Given the description of an element on the screen output the (x, y) to click on. 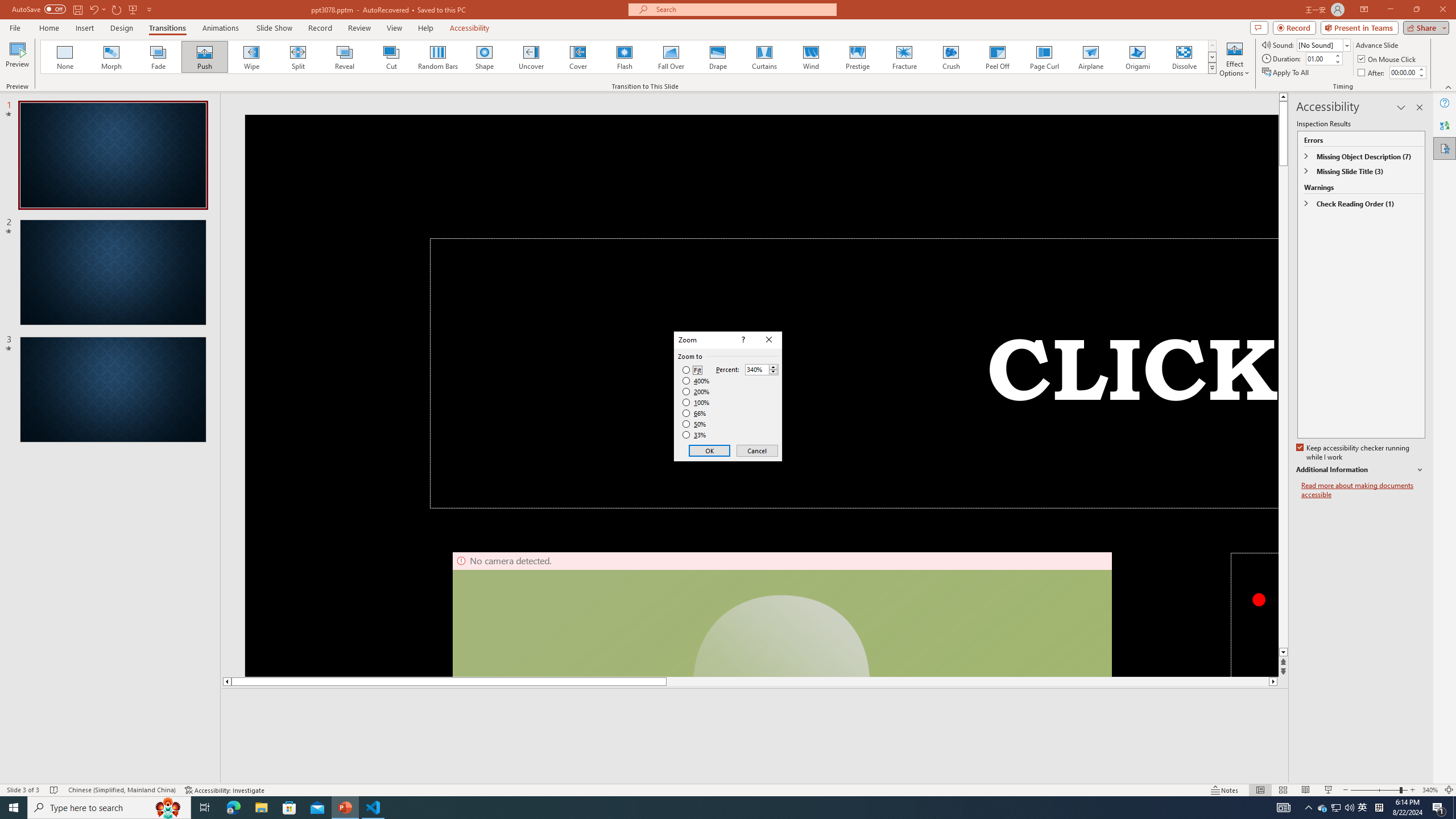
Morph (111, 56)
On Mouse Click (1387, 58)
66% (694, 412)
Sound (1324, 44)
Drape (717, 56)
